Given the description of an element on the screen output the (x, y) to click on. 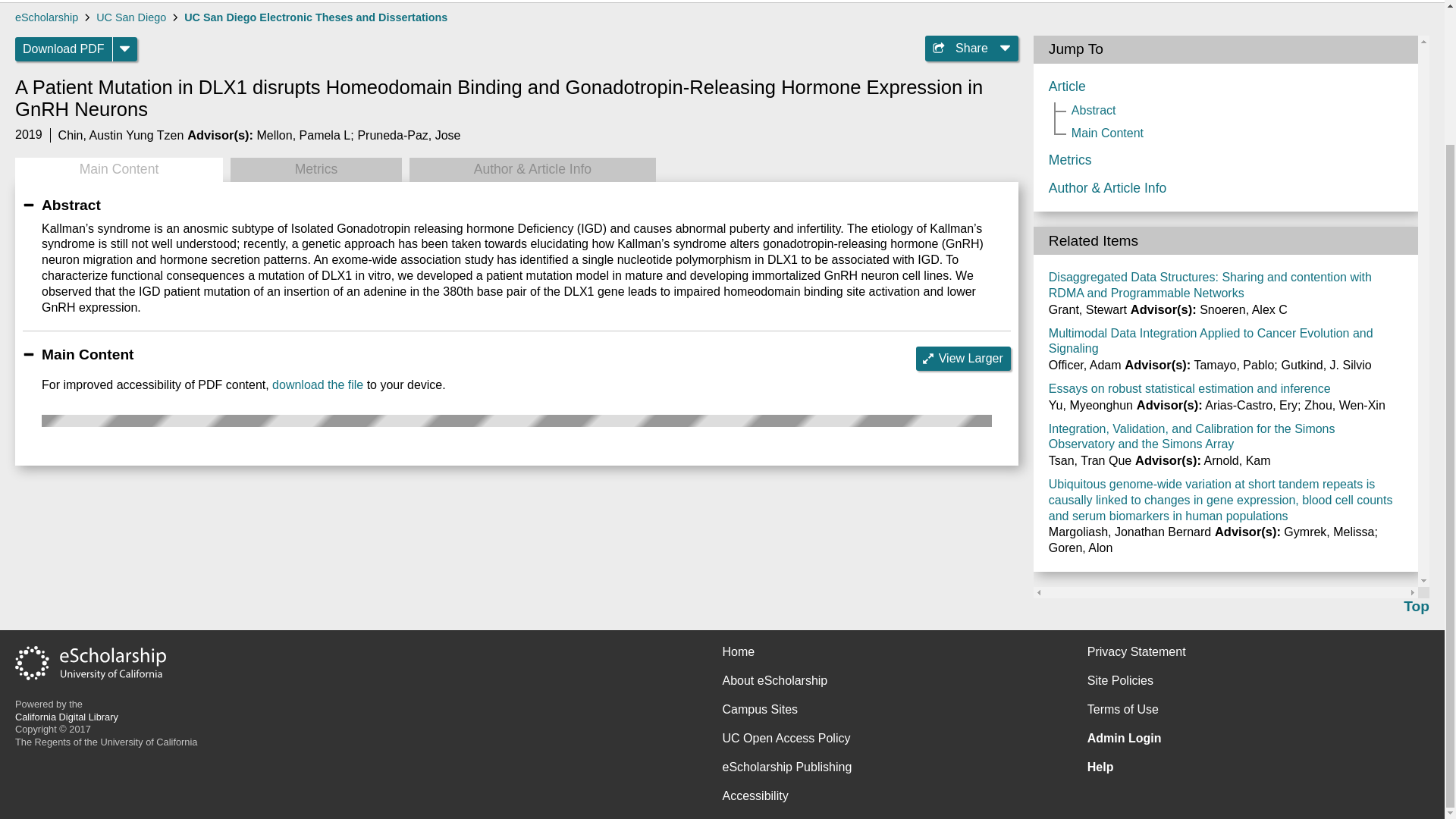
Metrics (315, 169)
Mellon, Pamela L (303, 134)
UC San Diego (130, 17)
Chin, Austin Yung Tzen (121, 134)
Pruneda-Paz, Jose (408, 134)
download the file (317, 384)
View Larger (962, 358)
Main Content (118, 169)
eScholarship (46, 17)
UC San Diego Electronic Theses and Dissertations (315, 17)
Download PDF (63, 48)
